Given the description of an element on the screen output the (x, y) to click on. 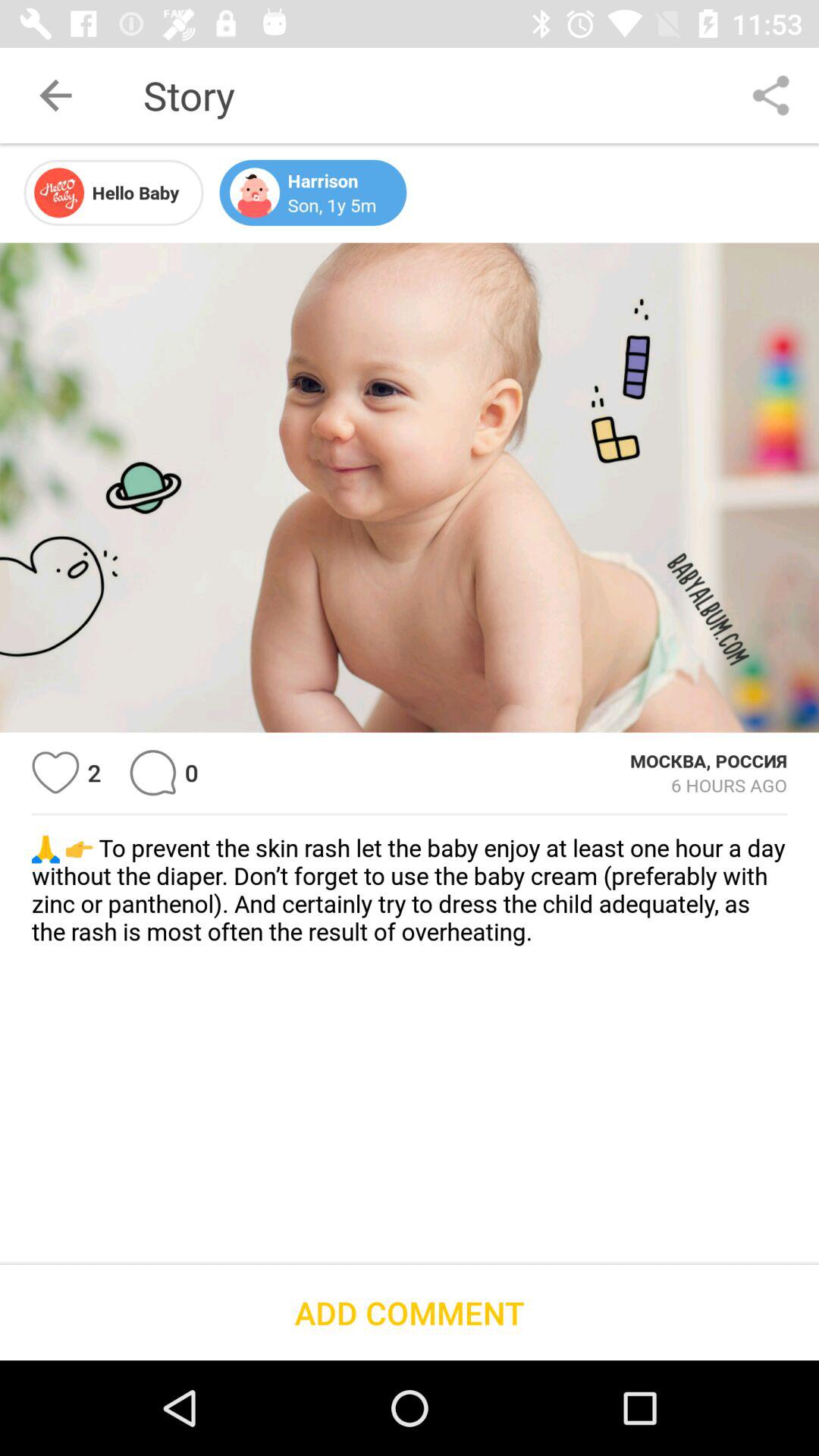
baby poto (409, 487)
